Given the description of an element on the screen output the (x, y) to click on. 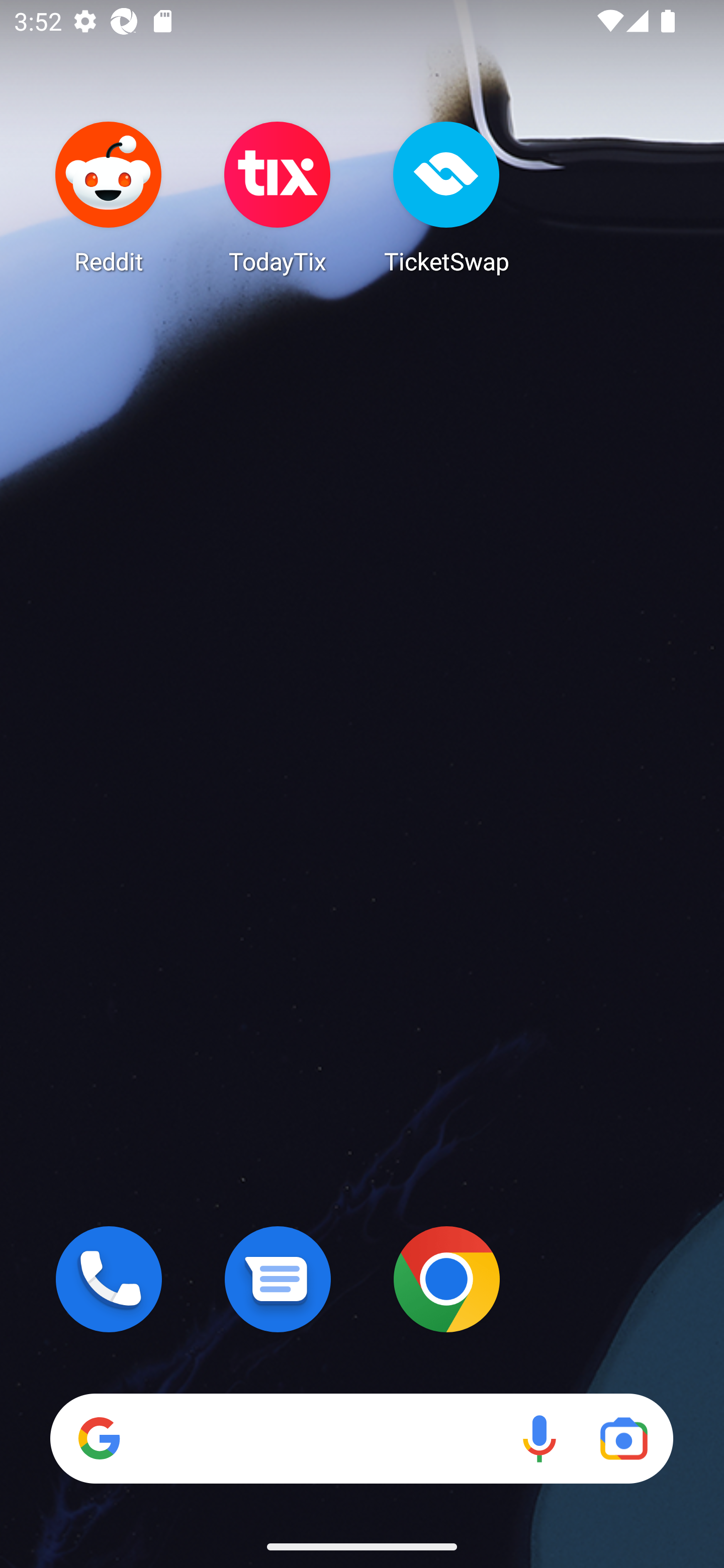
Reddit (108, 196)
TodayTix (277, 196)
TicketSwap (445, 196)
Phone (108, 1279)
Messages (277, 1279)
Chrome (446, 1279)
Voice search (539, 1438)
Google Lens (623, 1438)
